Given the description of an element on the screen output the (x, y) to click on. 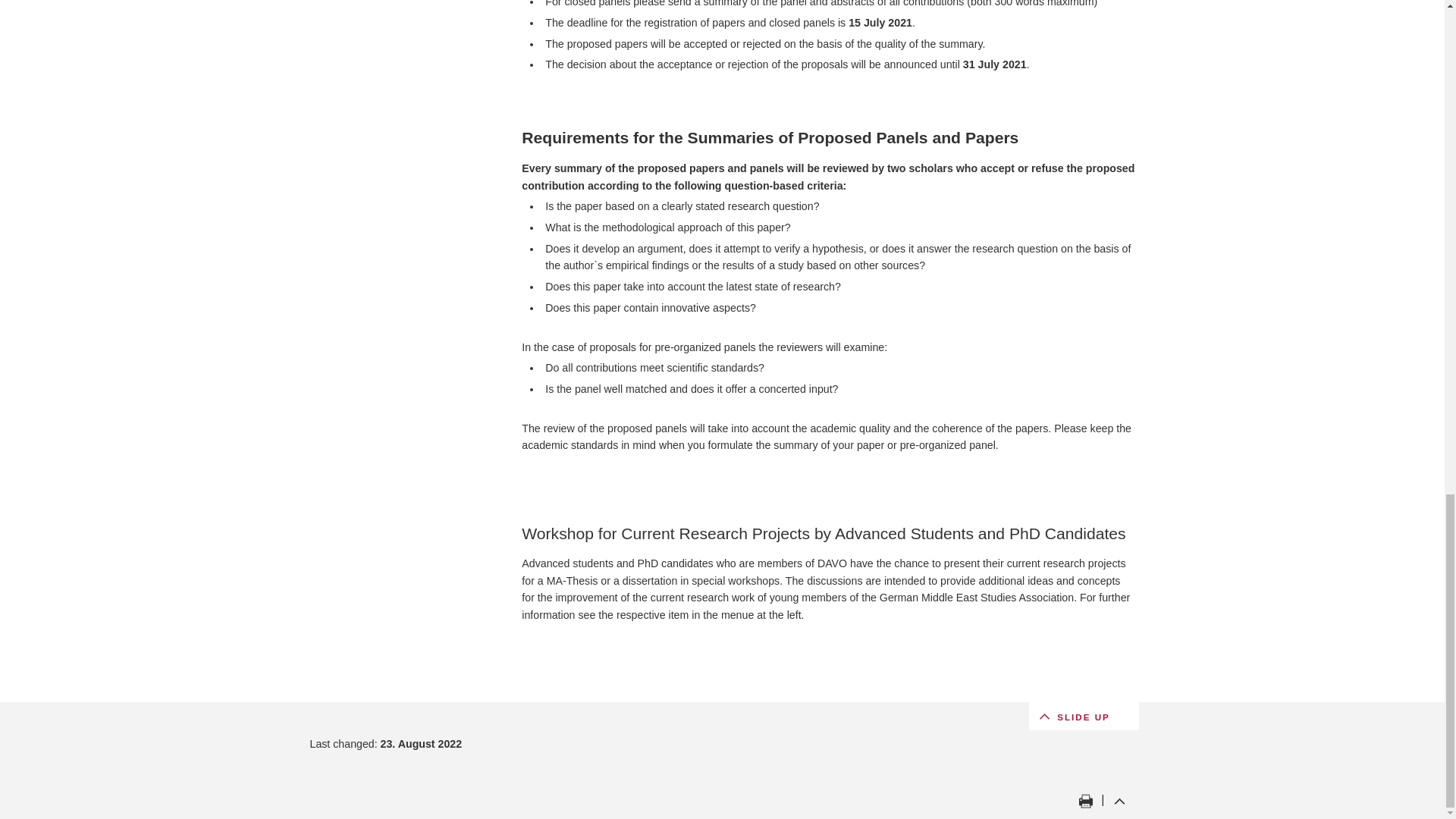
print this page (1085, 801)
SLIDE UP (1081, 715)
